Given the description of an element on the screen output the (x, y) to click on. 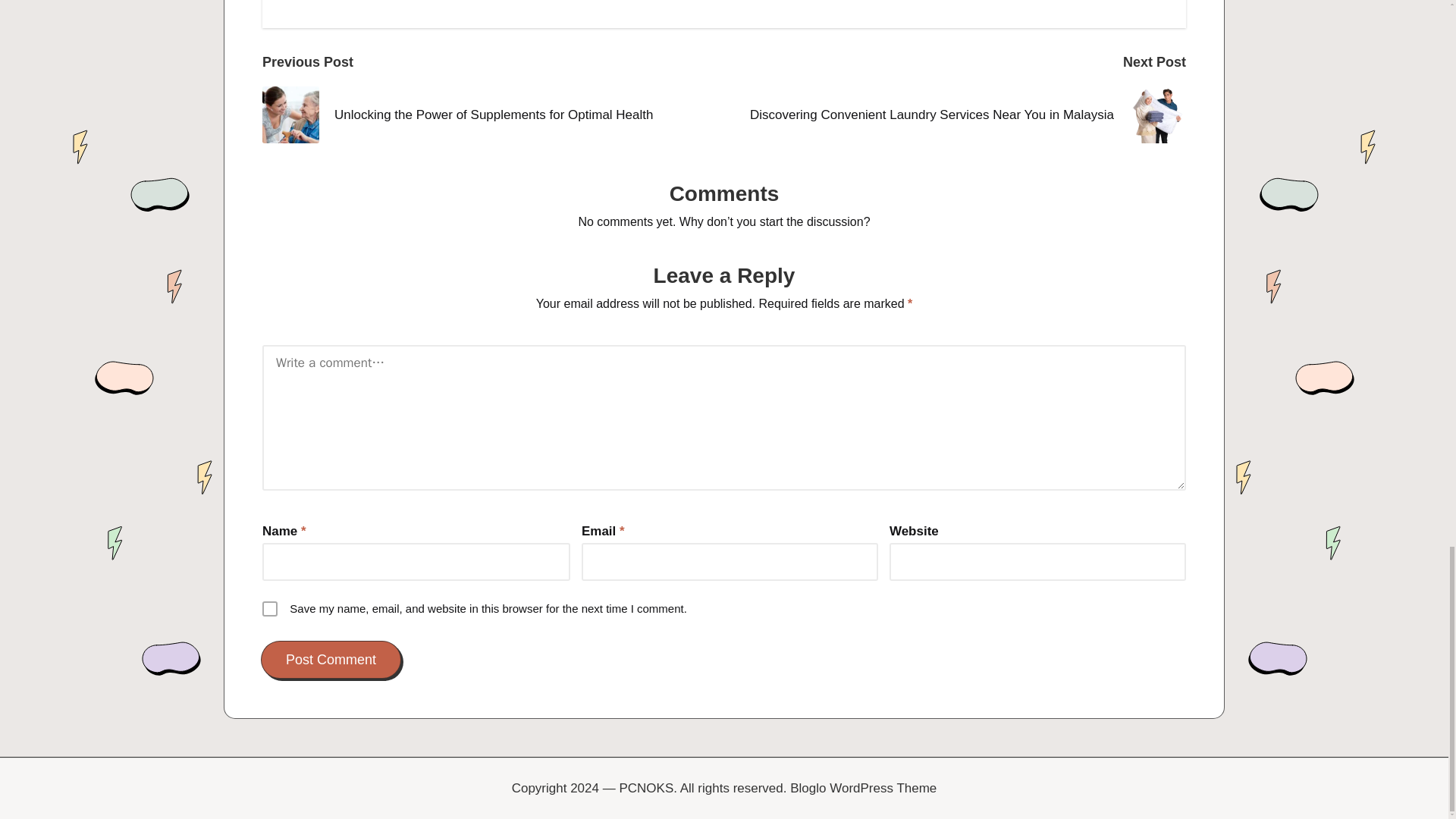
Post Comment (330, 659)
yes (270, 608)
Bloglo WordPress Theme (863, 788)
Post Comment (330, 659)
Unlocking the Power of Supplements for Optimal Health (492, 114)
Discovering Convenient Laundry Services Near You in Malaysia (954, 114)
